Given the description of an element on the screen output the (x, y) to click on. 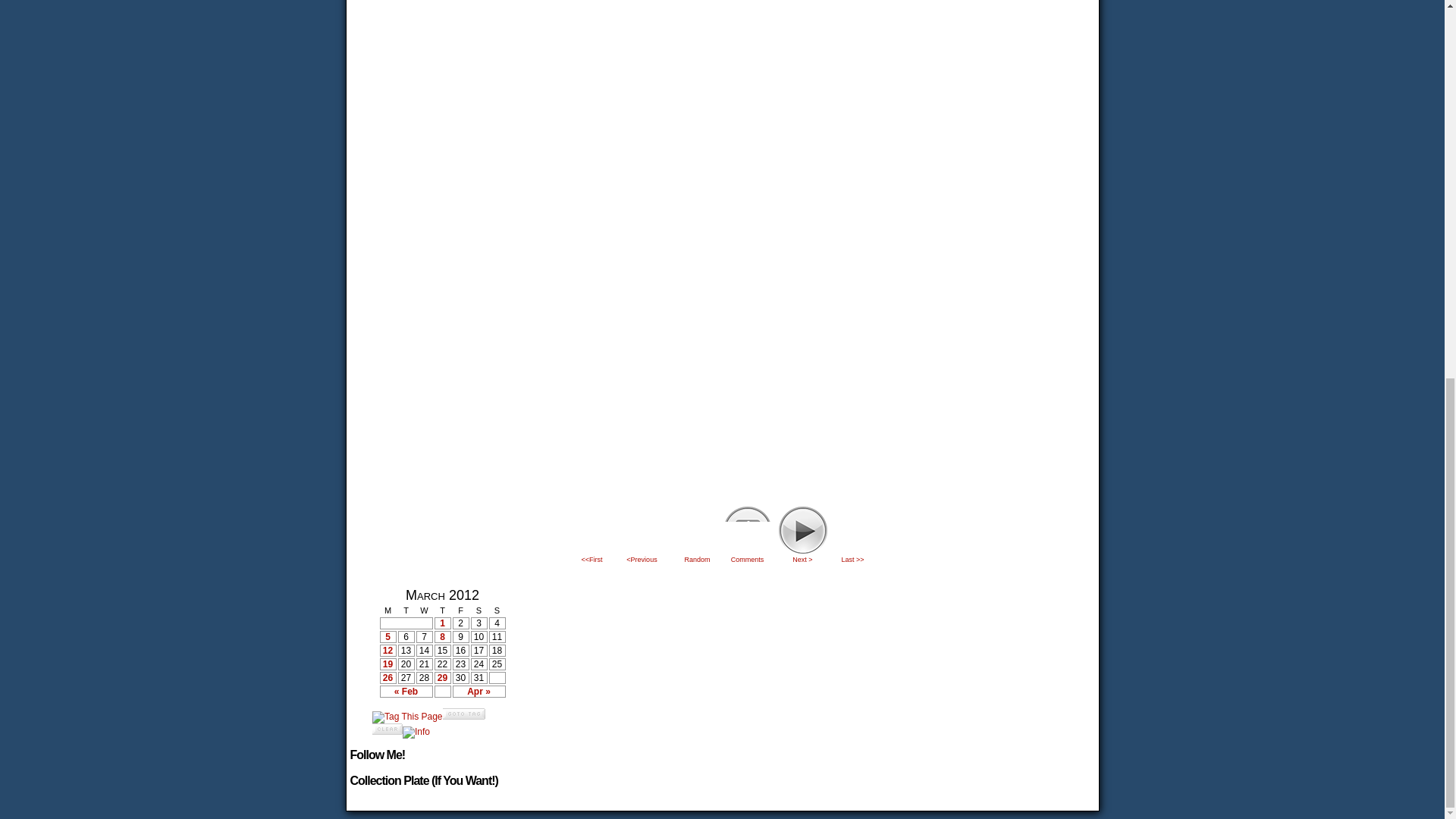
Saturday (478, 610)
Random (696, 534)
26 (388, 677)
Comments (746, 534)
Thursday (441, 610)
5 (388, 636)
1 (442, 623)
Monday (387, 610)
19 (388, 664)
12 (388, 650)
Wednesday (423, 610)
29 (442, 677)
Friday (459, 610)
4Comments (746, 534)
Random (696, 534)
